Given the description of an element on the screen output the (x, y) to click on. 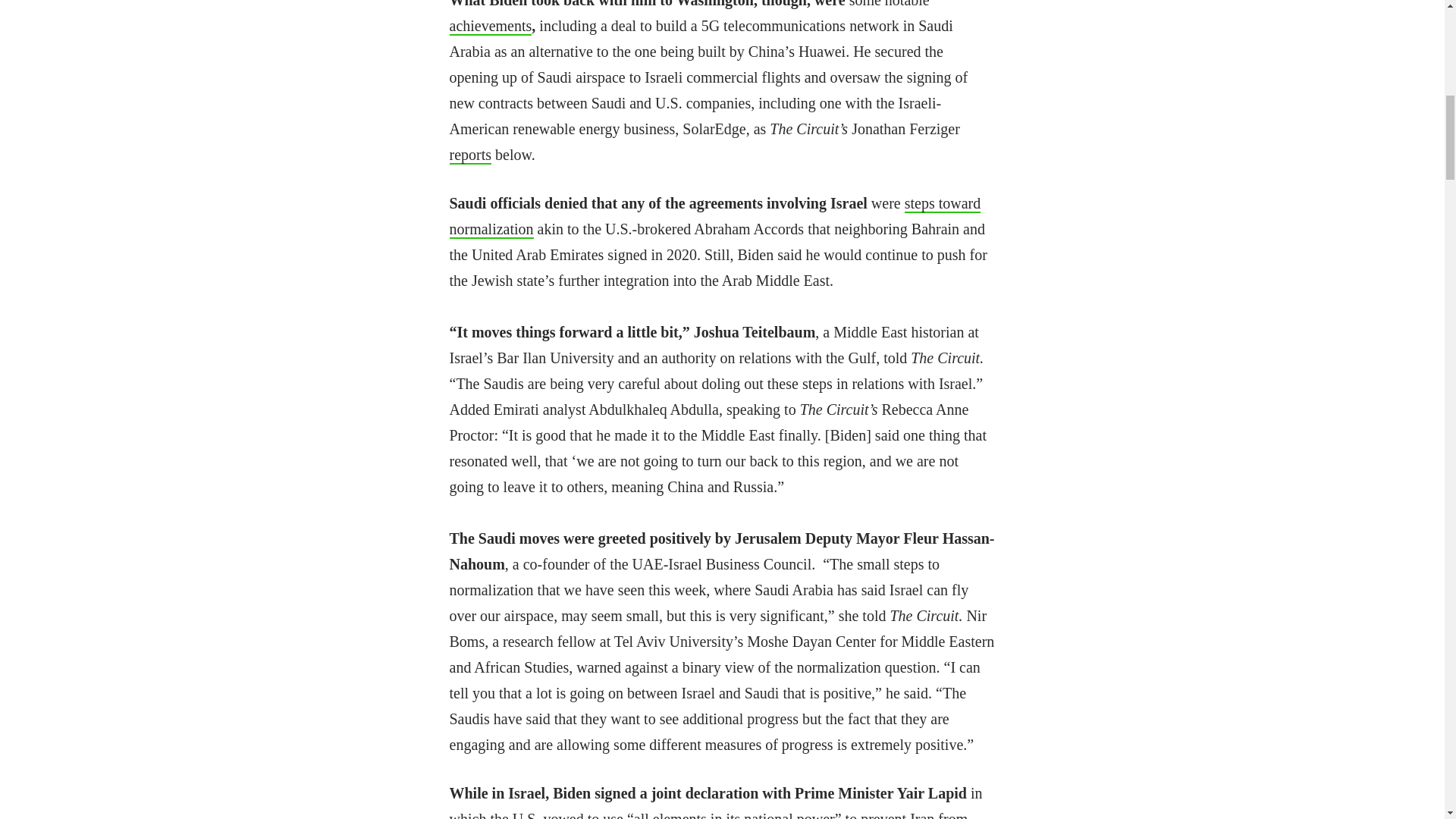
reports (470, 155)
achievements (489, 26)
steps toward normalization (713, 216)
prevent Iran (897, 814)
